Given the description of an element on the screen output the (x, y) to click on. 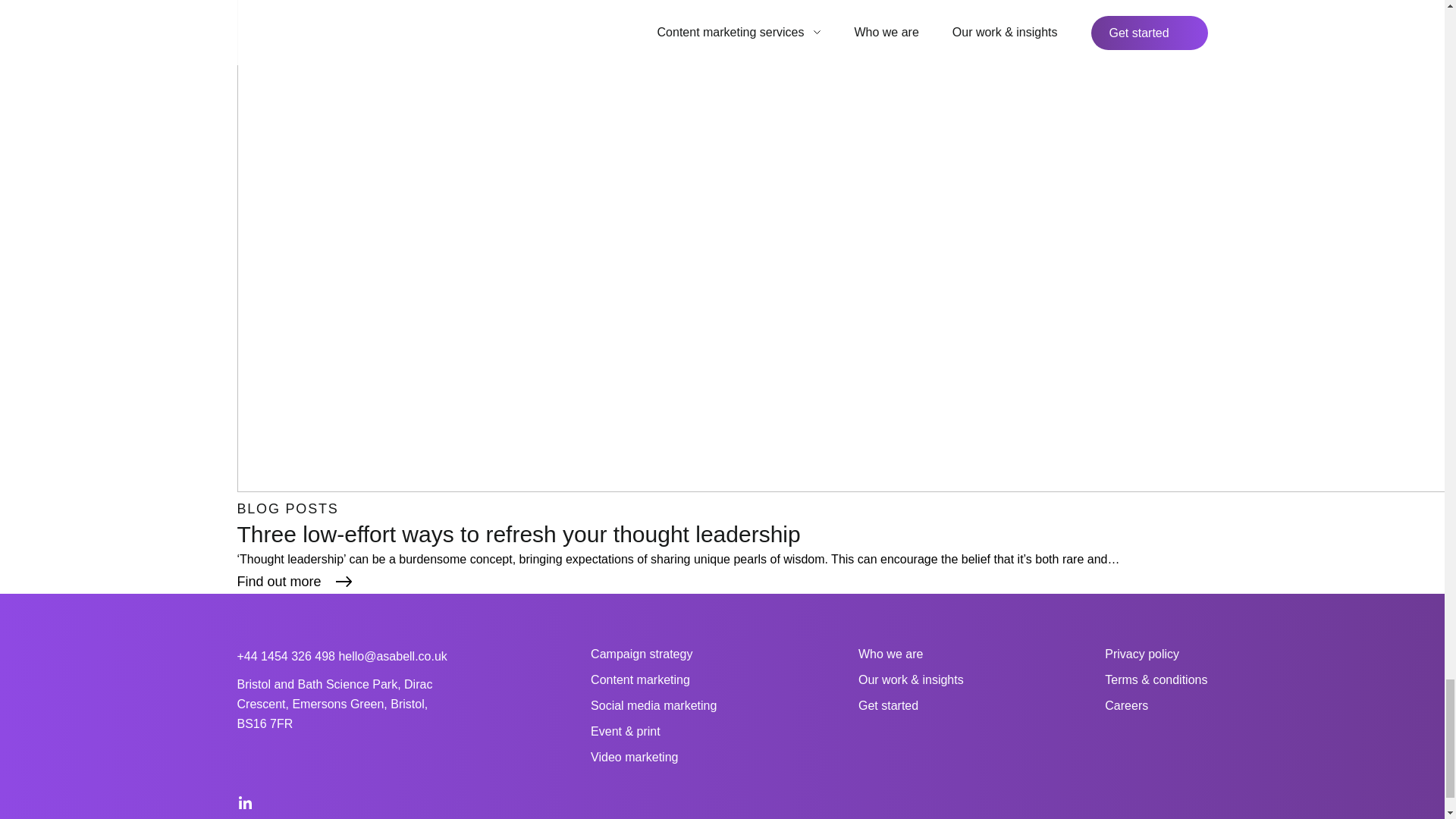
Content marketing (640, 679)
Who we are (891, 654)
Campaign strategy (642, 654)
Video marketing (634, 757)
Find out more (296, 581)
Privacy policy (1142, 654)
Get started (888, 705)
Social media marketing (653, 705)
